Given the description of an element on the screen output the (x, y) to click on. 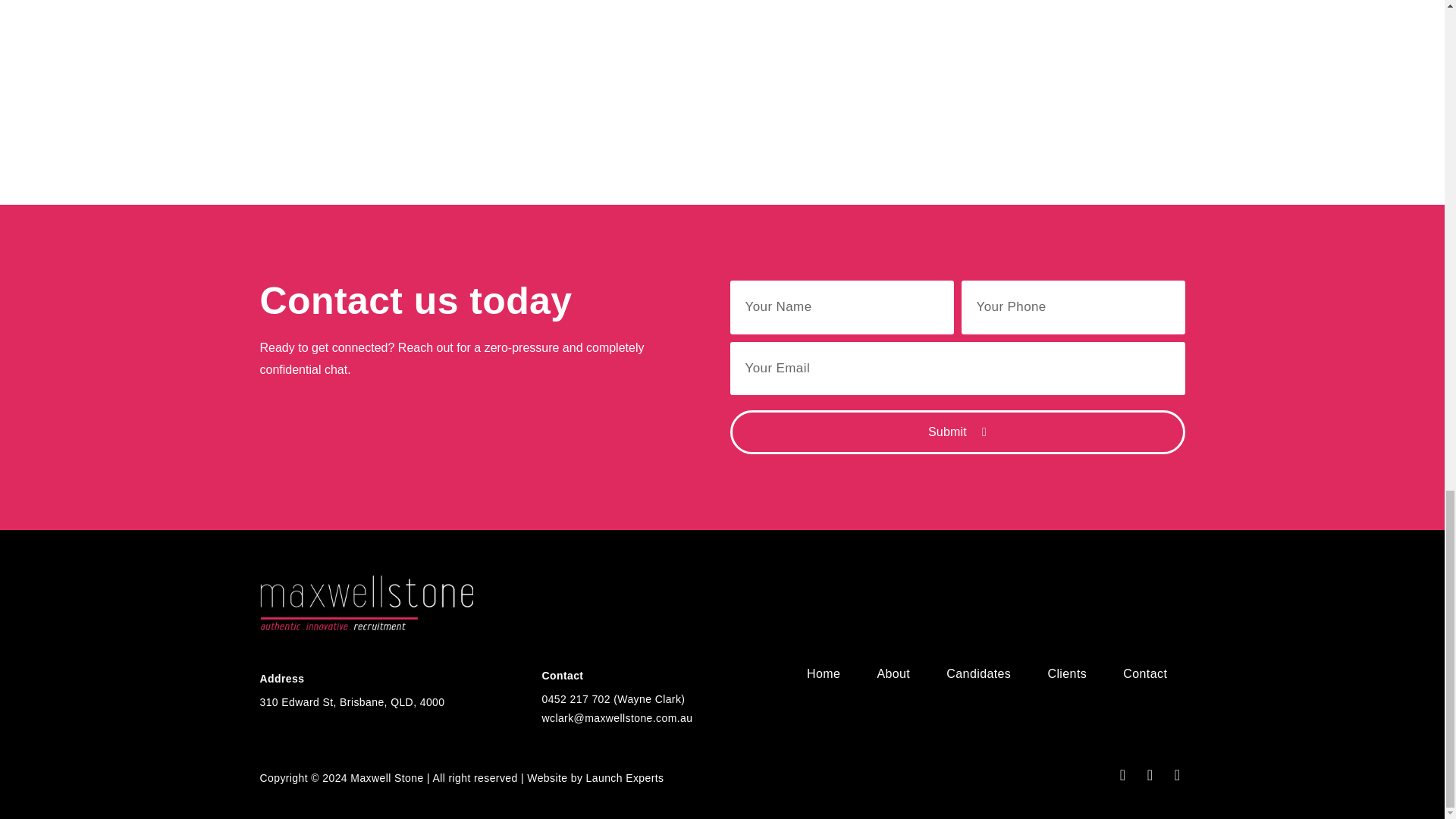
Clients (1066, 673)
About (892, 673)
Candidates (978, 673)
Launch Experts (624, 777)
Submit (957, 432)
Home (823, 673)
Contact (1144, 673)
